Given the description of an element on the screen output the (x, y) to click on. 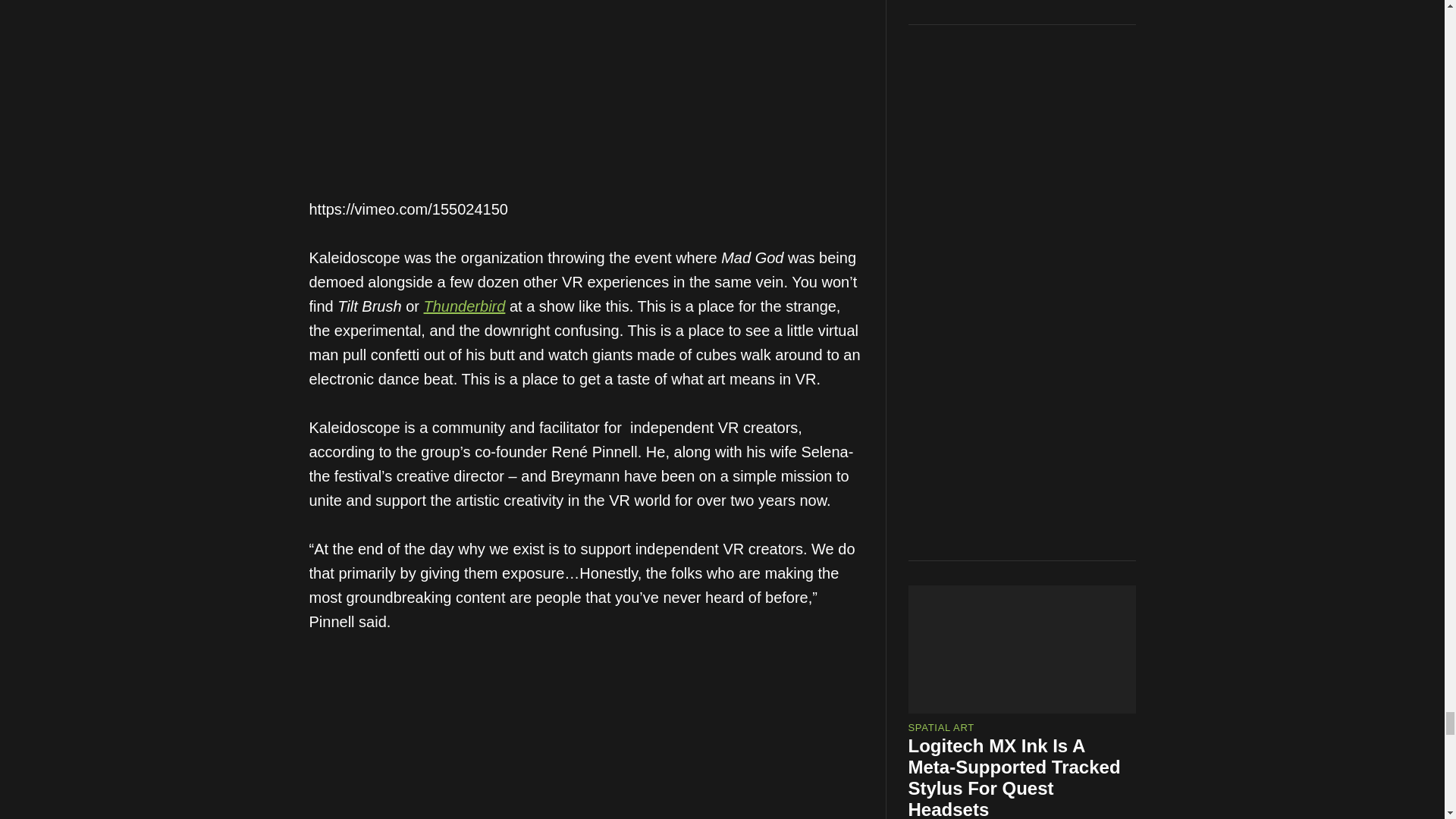
Thunderbird (464, 306)
DON HOPPER (1031, 715)
SPATIAL ART (941, 609)
SPATIAL ART (941, 292)
IAN HAMILTON (946, 715)
DAVID HEANEY (947, 397)
